Given the description of an element on the screen output the (x, y) to click on. 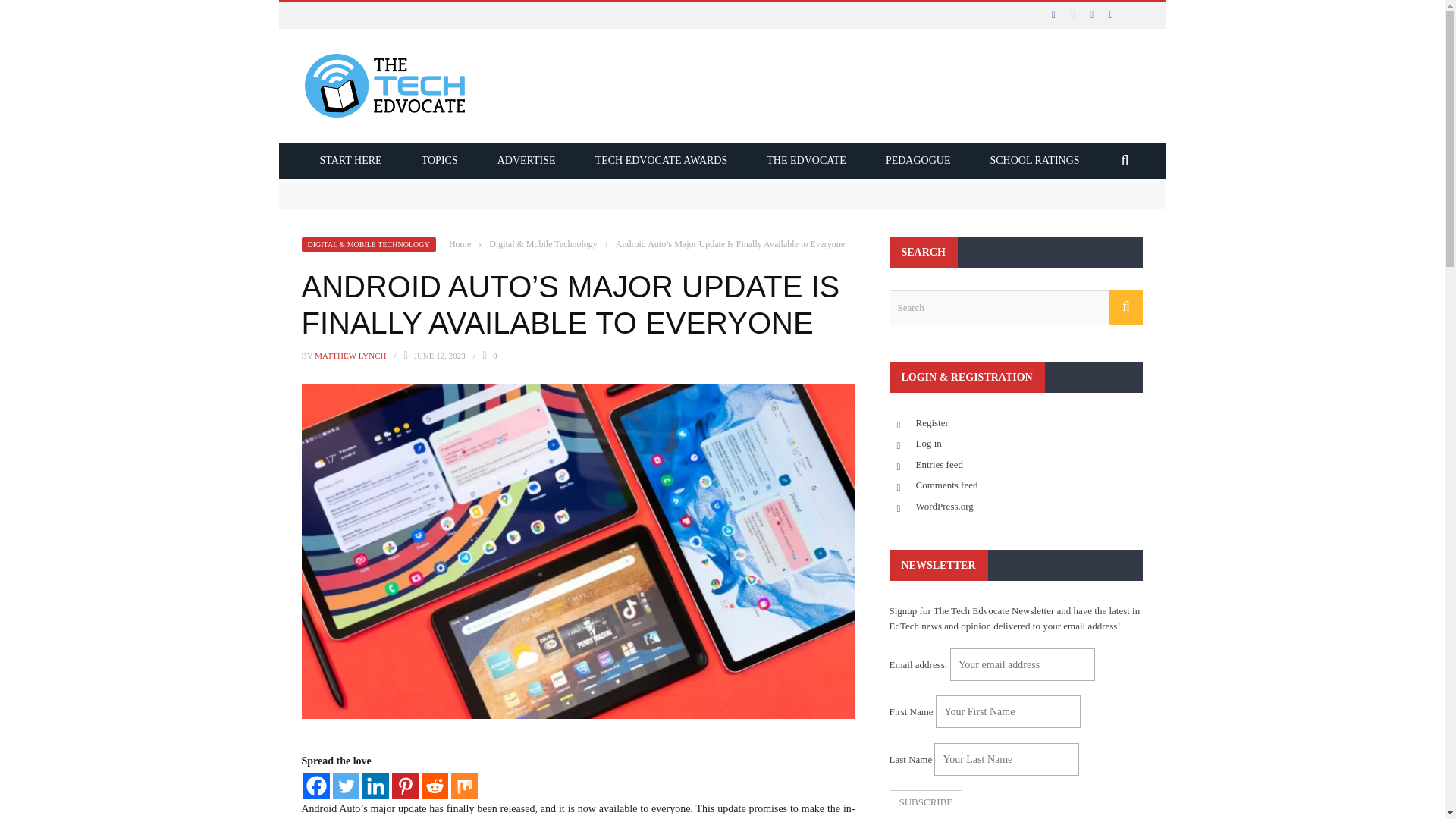
Twitter (344, 786)
Pinterest (404, 786)
Linkedin (375, 786)
Reddit (435, 786)
Subscribe (925, 802)
Facebook (316, 786)
Mix (463, 786)
Search (1015, 307)
